Given the description of an element on the screen output the (x, y) to click on. 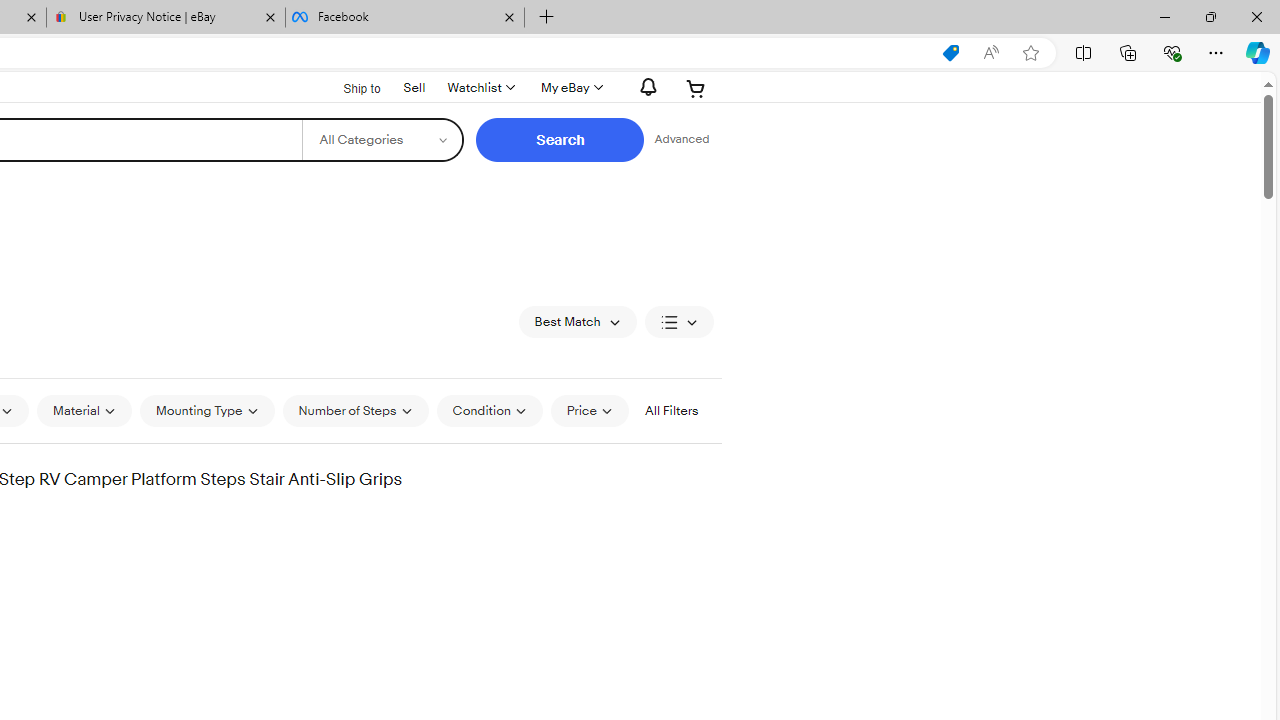
My eBayExpand My eBay (569, 88)
View: List View (678, 321)
AutomationID: gh-eb-Alerts (645, 87)
All Filters (671, 410)
Number of Steps (354, 410)
All Filters (671, 410)
Mounting Type (207, 410)
Advanced Search (681, 139)
My eBay (569, 88)
Material (84, 410)
Sort: Best Match (577, 321)
